Given the description of an element on the screen output the (x, y) to click on. 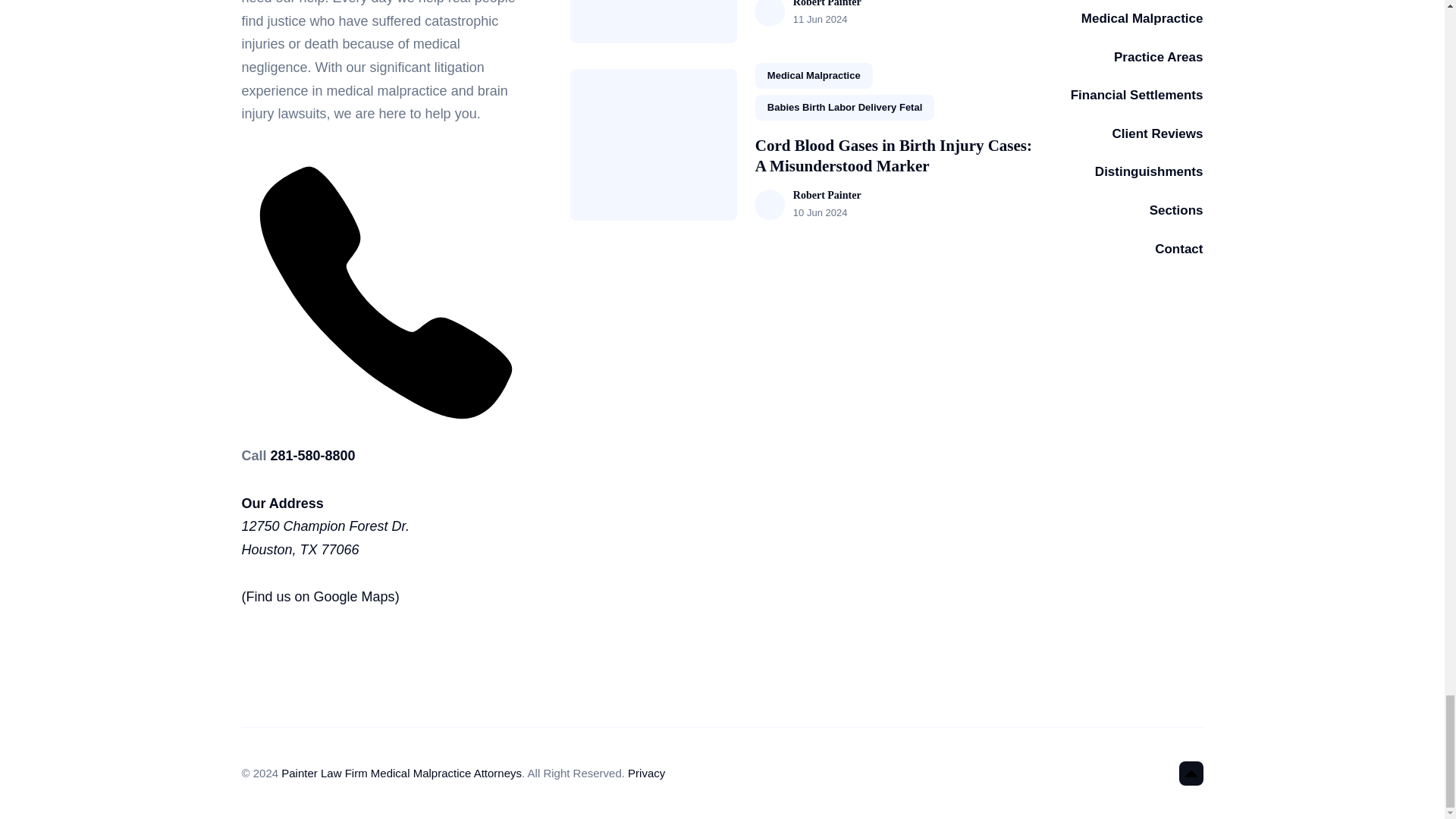
Top (1189, 773)
